Given the description of an element on the screen output the (x, y) to click on. 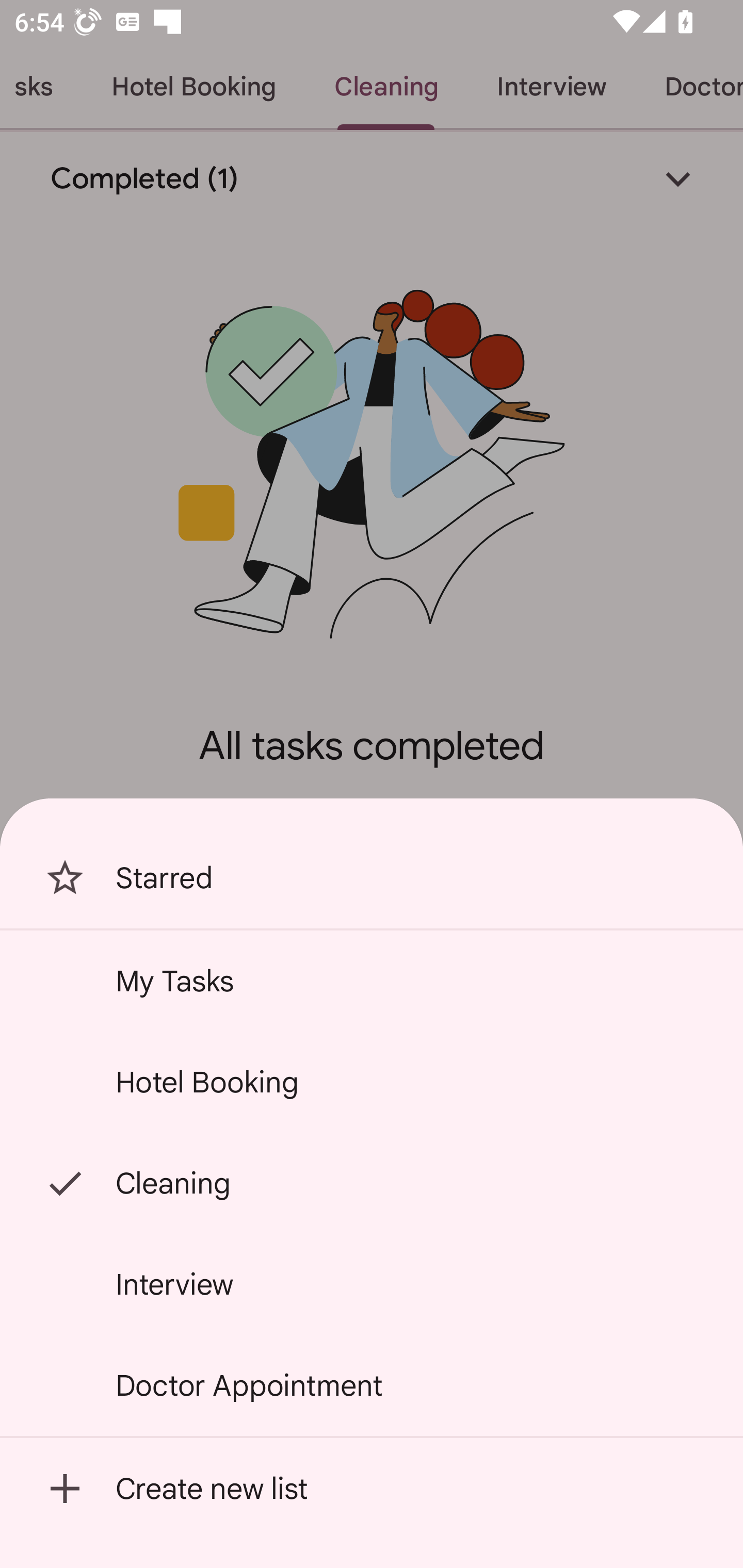
Starred (371, 877)
My Tasks (371, 980)
Hotel Booking (371, 1081)
Cleaning (371, 1183)
Interview (371, 1284)
Doctor Appointment (371, 1385)
Create new list (371, 1488)
